Given the description of an element on the screen output the (x, y) to click on. 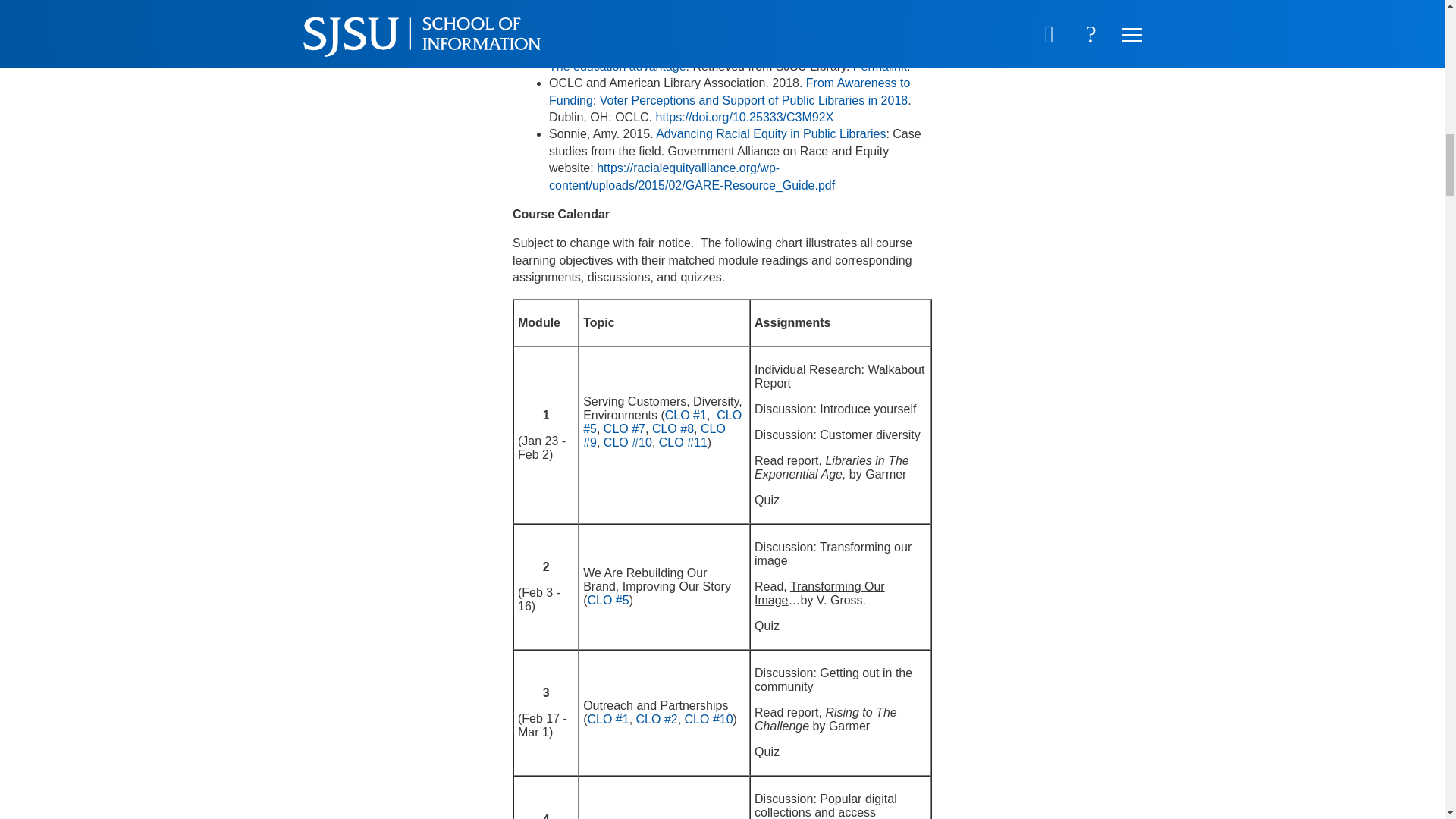
Permalink (781, 31)
Permalink (880, 65)
Advancing Racial Equity in Public Libraries (770, 133)
Permalink (625, 2)
Rising to the Challenge: Re-Envisioning Public Libraries (734, 23)
